Given the description of an element on the screen output the (x, y) to click on. 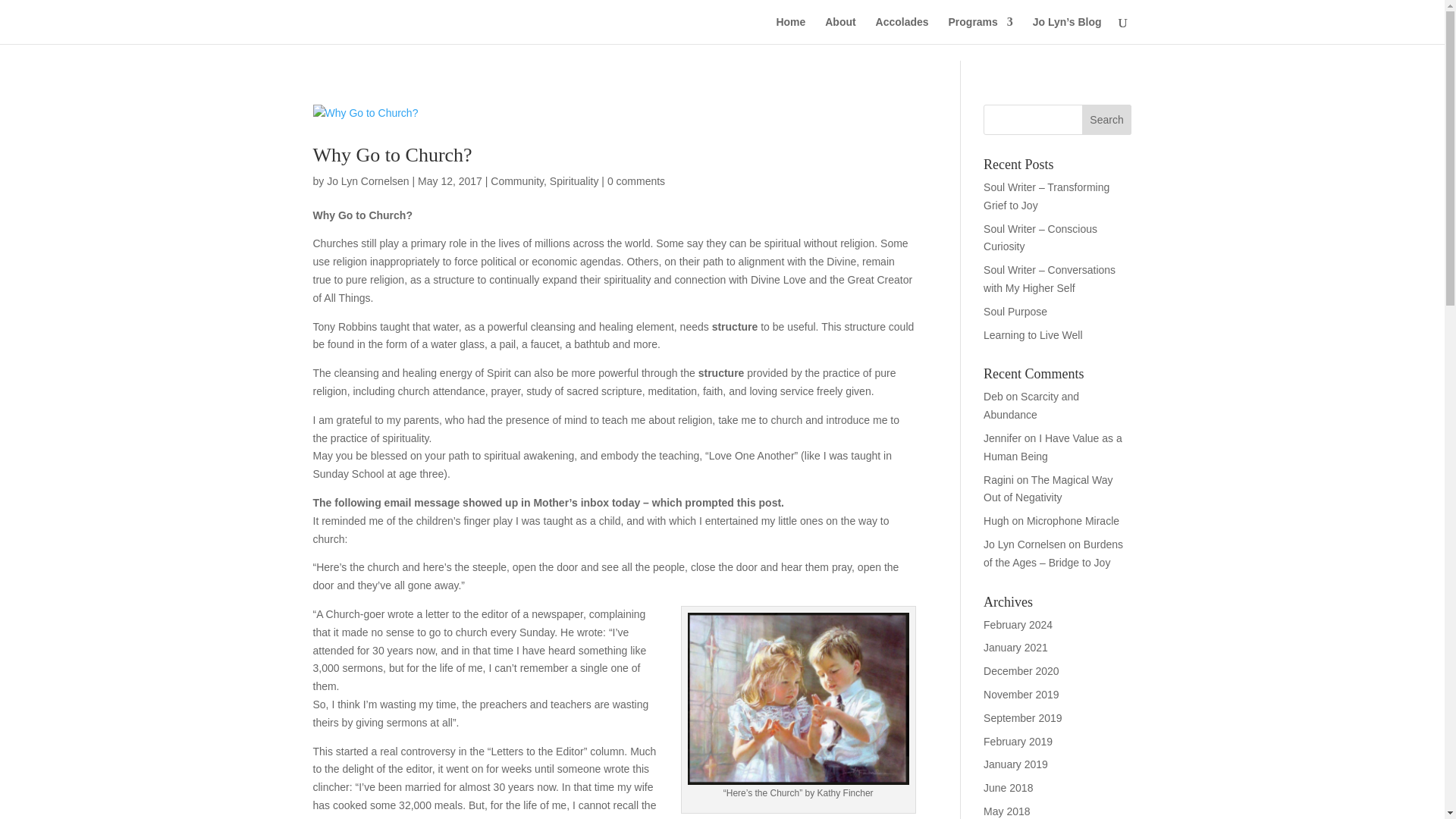
0 comments (636, 181)
January 2021 (1016, 647)
Community (516, 181)
Spirituality (574, 181)
June 2018 (1008, 787)
September 2019 (1023, 717)
February 2019 (1018, 741)
February 2024 (1018, 624)
Why Go to Church? (392, 155)
Learning to Live Well (1032, 335)
I Have Value as a Human Being (1053, 447)
Microphone Miracle (1072, 521)
Search (1106, 119)
"Here's the Church" by Kathy Fincher (797, 698)
May 2018 (1006, 811)
